Given the description of an element on the screen output the (x, y) to click on. 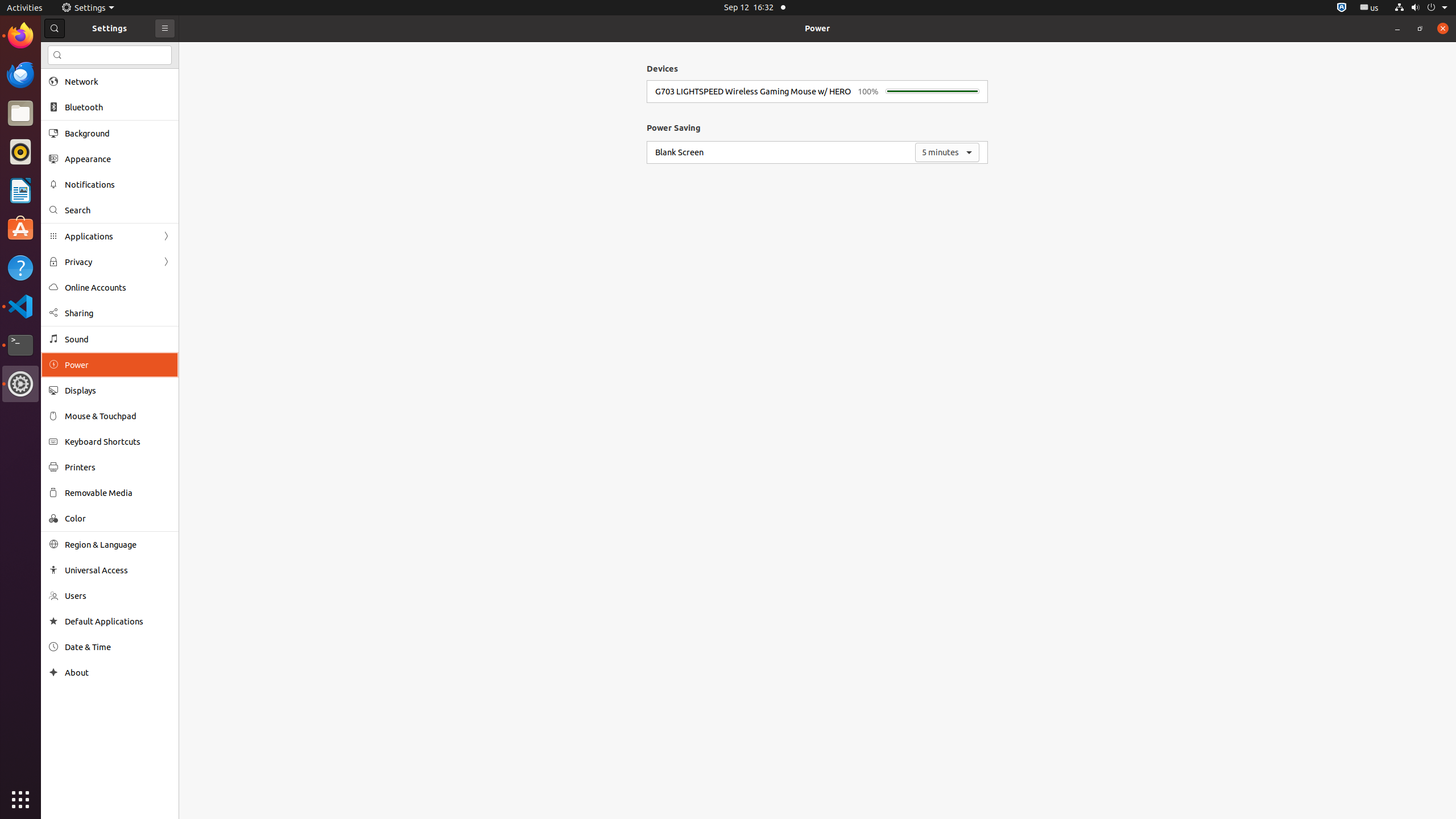
About Element type: label (117, 672)
Applications Element type: label (109, 236)
Restore Element type: push-button (1419, 27)
Bluetooth Element type: label (117, 107)
